Given the description of an element on the screen output the (x, y) to click on. 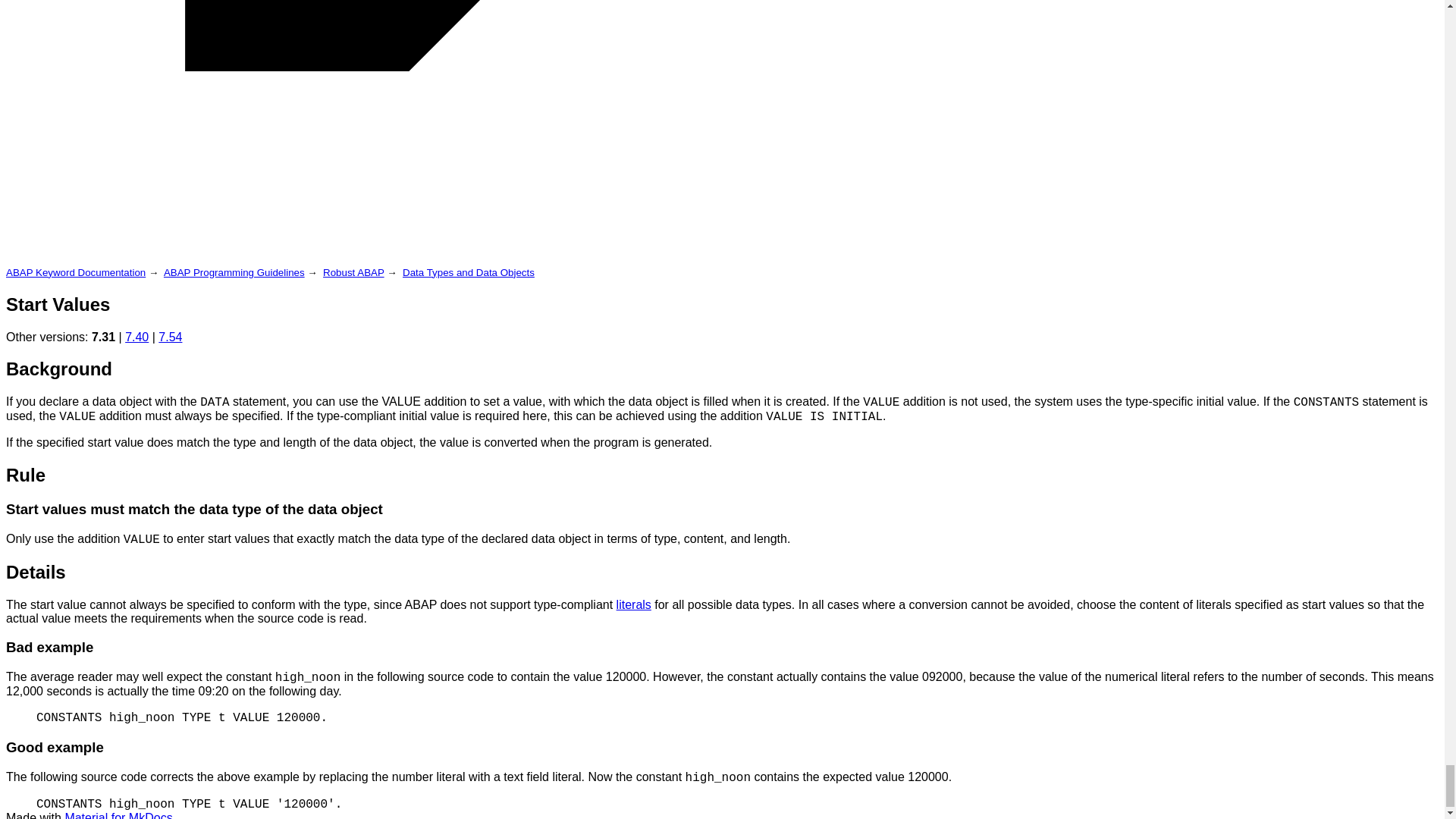
7.40 (136, 336)
ABAP Programming Guidelines (233, 272)
Guideline (632, 604)
literals (632, 604)
Data Types and Data Objects (468, 272)
Robust ABAP (353, 272)
ABAP Keyword Documentation (75, 272)
7.54 (170, 336)
